Given the description of an element on the screen output the (x, y) to click on. 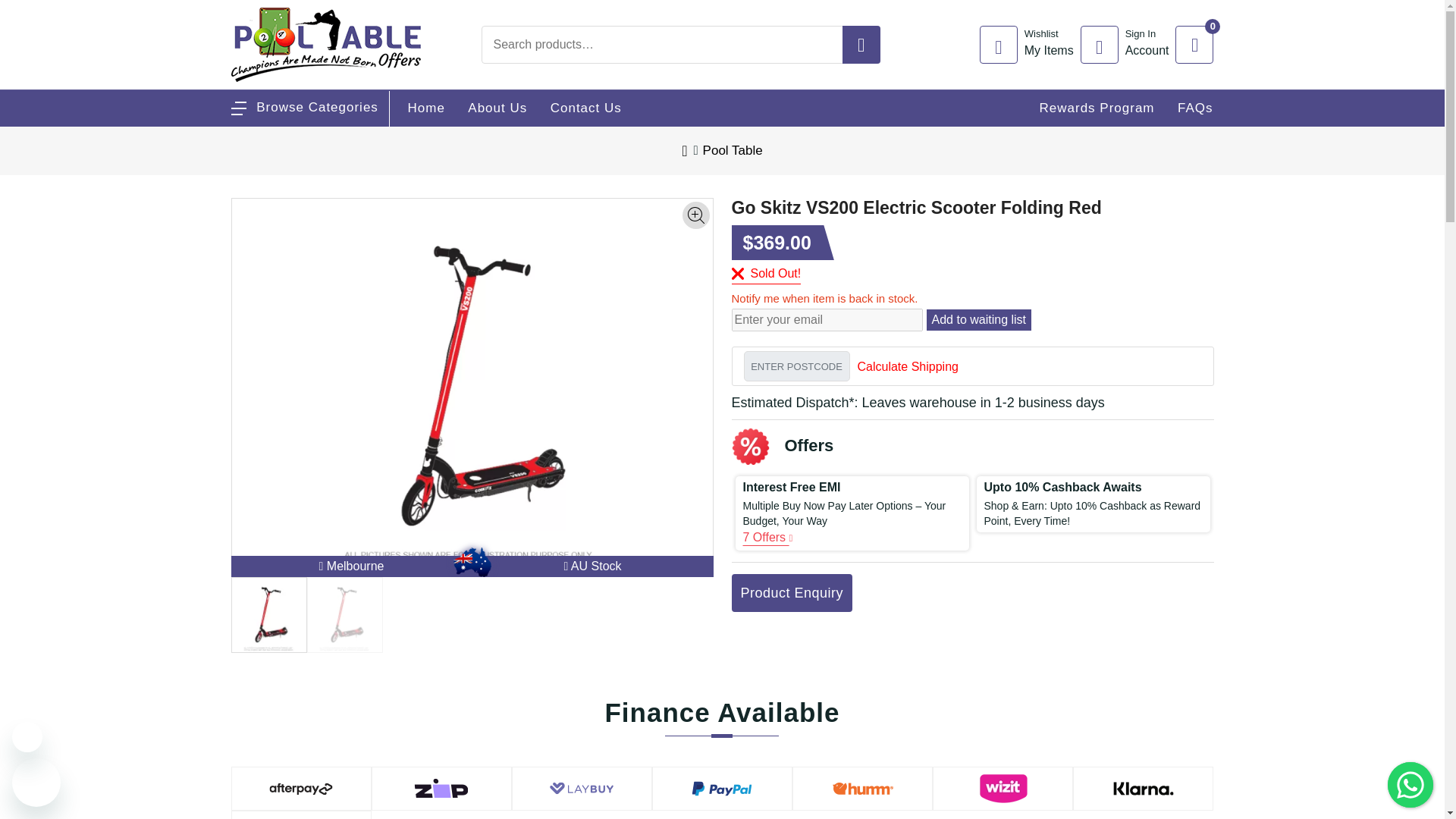
Browse Categories (1029, 44)
Search (1128, 44)
View All Product (303, 106)
0 (1363, 17)
Go Skitz VS200 Electric Scooter Folding Red (1329, 11)
Go Skitz VS200 Electric Scooter Folding Red (1193, 44)
